Given the description of an element on the screen output the (x, y) to click on. 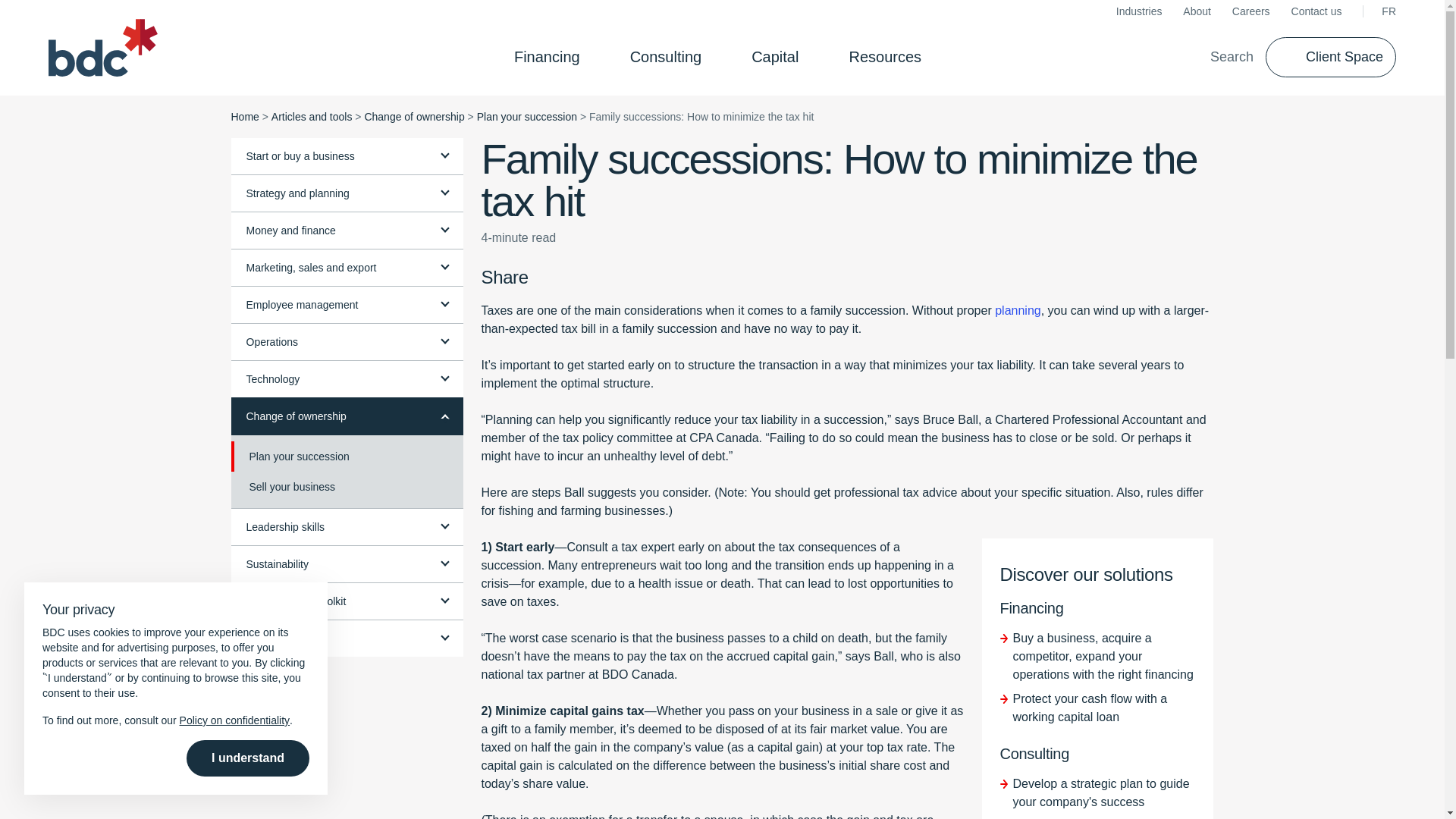
Capital (779, 56)
Client Space (1330, 56)
Search (1220, 56)
Financing (551, 56)
Consulting (670, 56)
Twitter (567, 277)
Facebook (543, 277)
LinkedIn (592, 277)
